Given the description of an element on the screen output the (x, y) to click on. 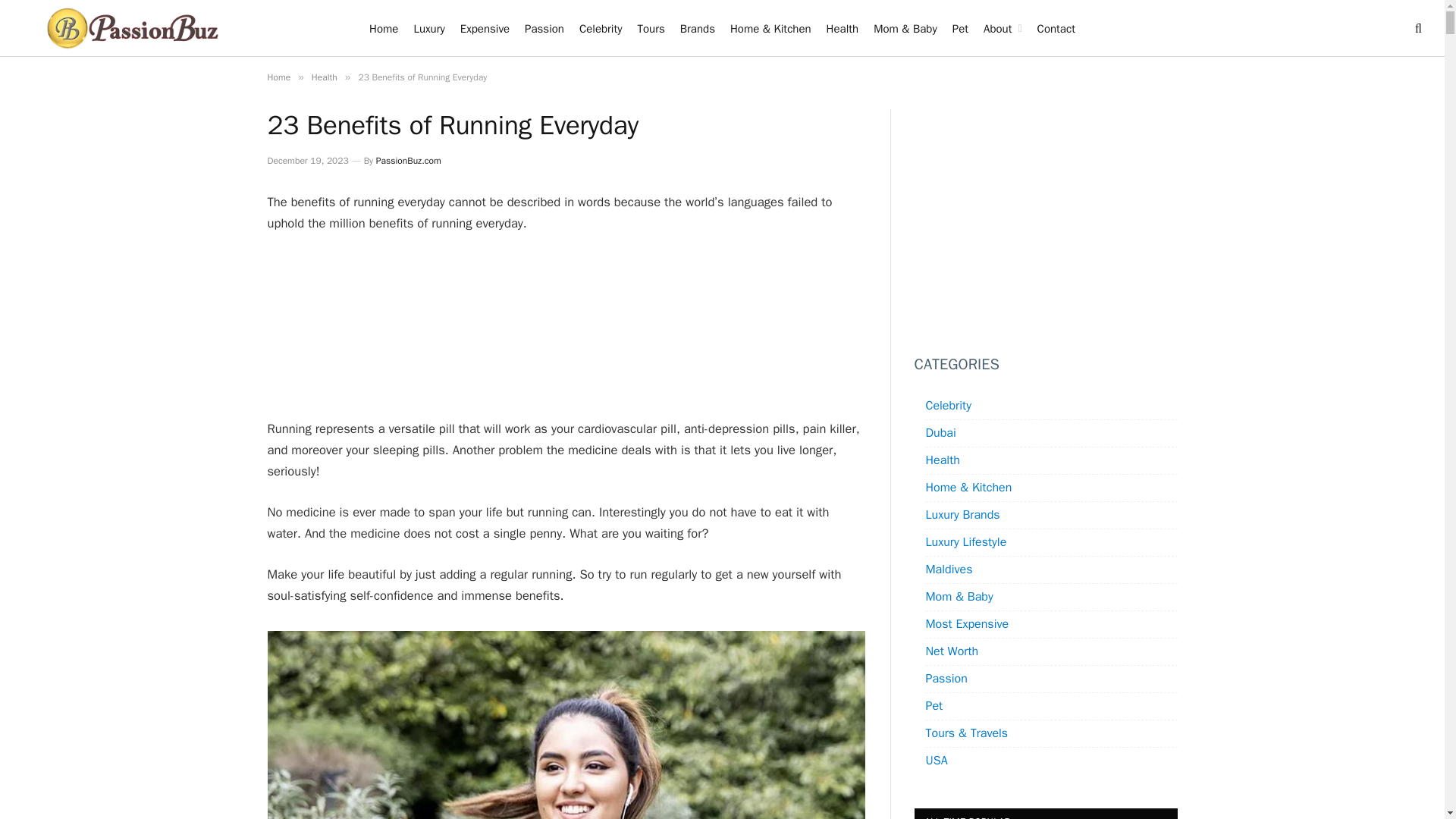
PassionBuz (133, 28)
PassionBuz.com (408, 160)
Celebrity (601, 28)
Expensive (484, 28)
Health (324, 77)
Home (277, 77)
Passion (544, 28)
Pros and Cons of Running Everyday (565, 724)
Advertisement (565, 328)
Posts by PassionBuz.com (408, 160)
